Given the description of an element on the screen output the (x, y) to click on. 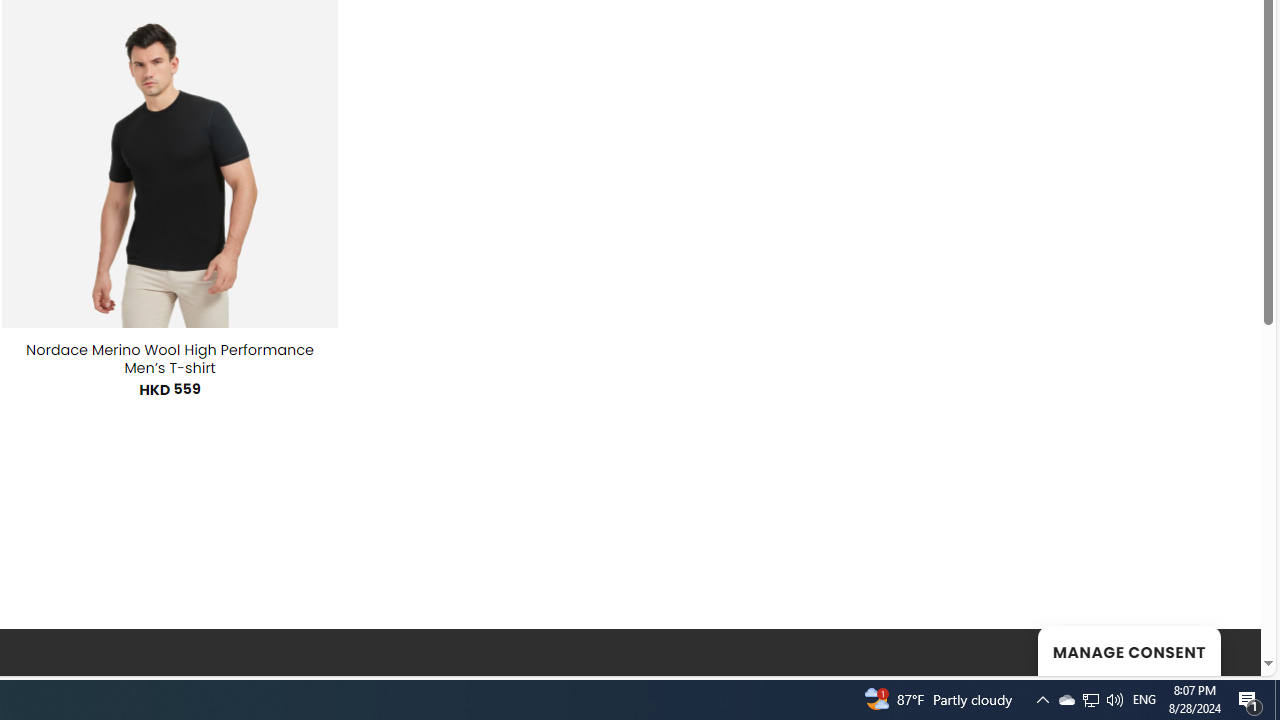
Go to top (1220, 647)
MANAGE CONSENT (1128, 650)
